Given the description of an element on the screen output the (x, y) to click on. 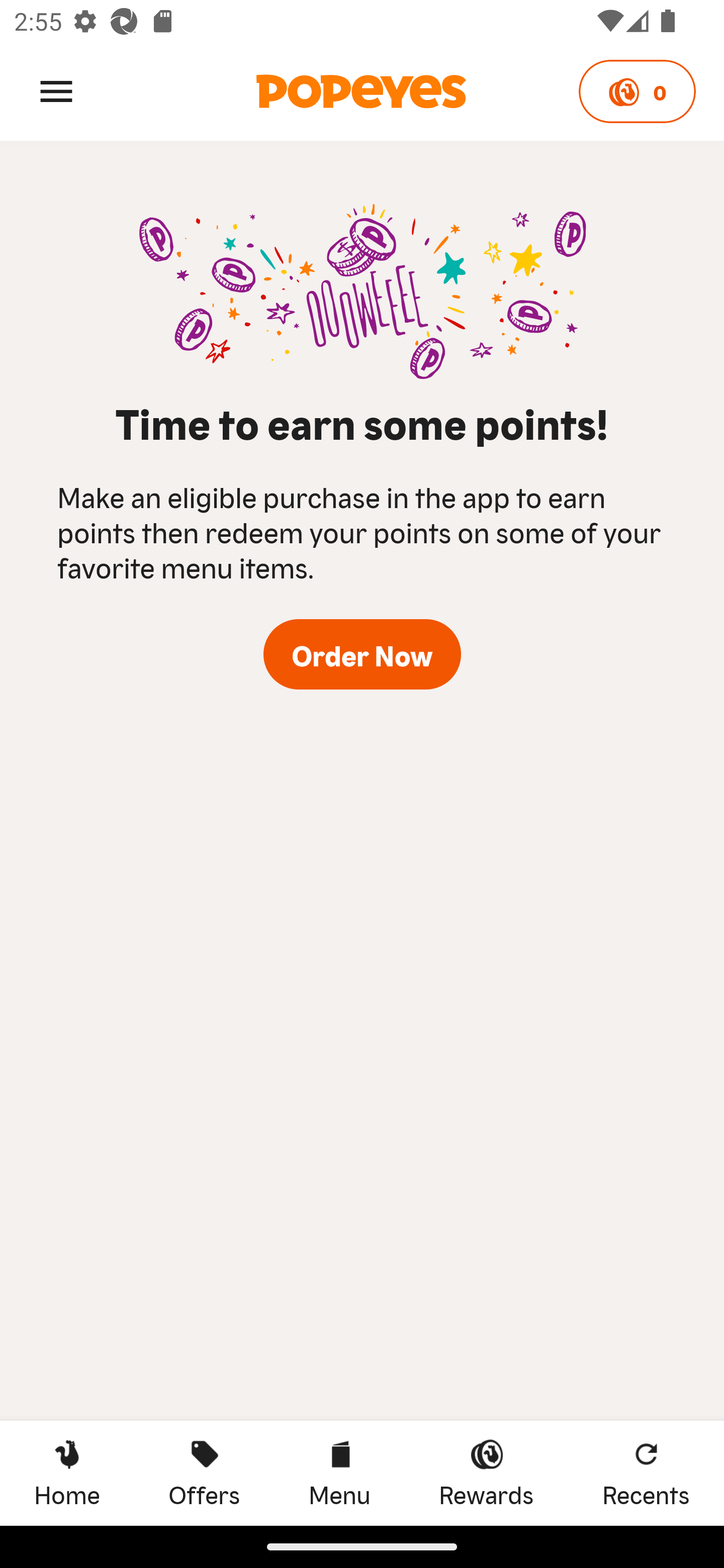
Menu  (56, 90)
0 Points 0 (636, 91)
Order Now (362, 654)
Home Home Home (66, 1472)
Offers Offers Offers (203, 1472)
Menu Menu Menu (339, 1472)
Rewards Rewards Rewards (486, 1472)
Recents Recents Recents (646, 1472)
